Given the description of an element on the screen output the (x, y) to click on. 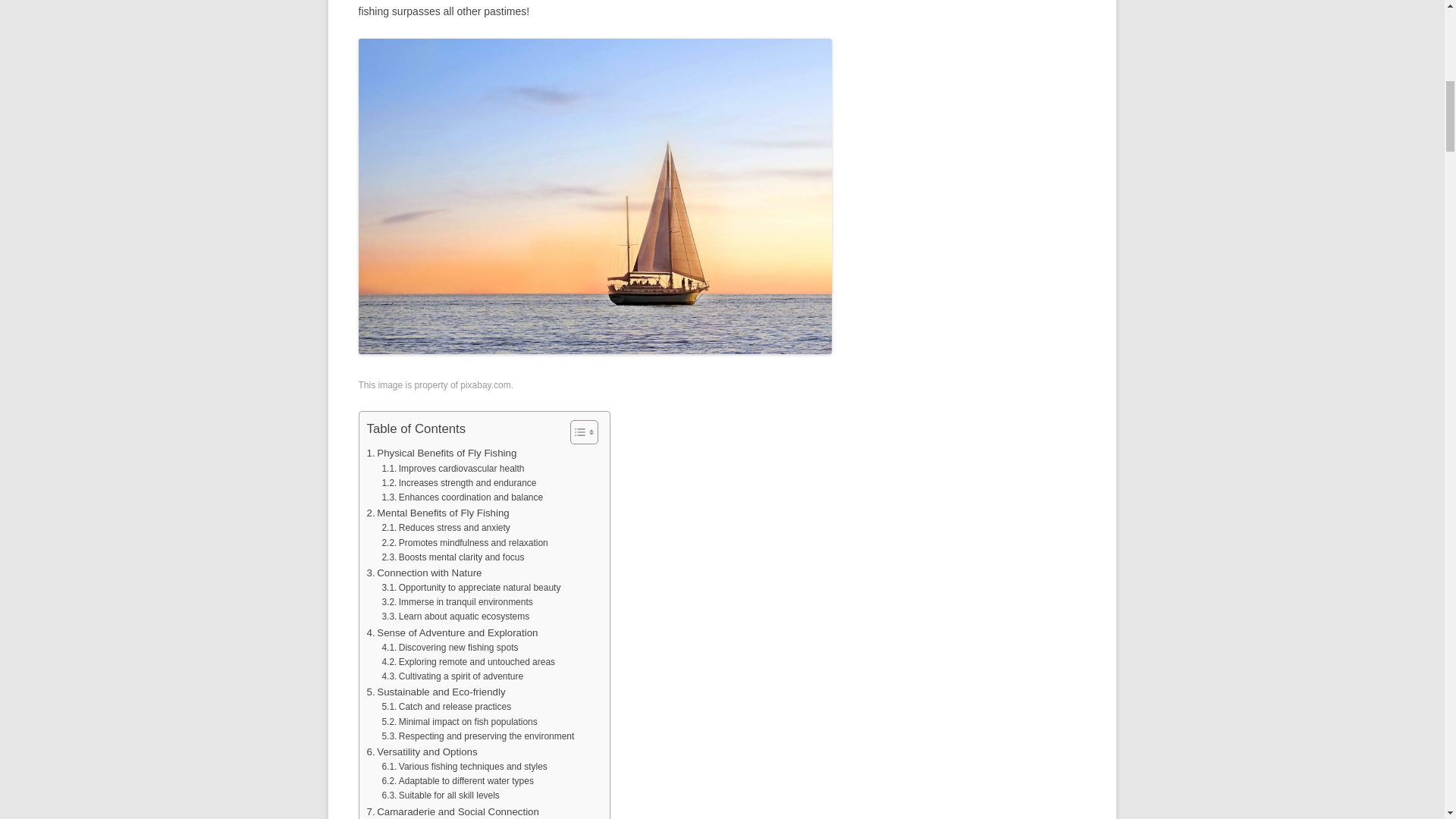
Catch and release practices (446, 707)
Sustainable and Eco-friendly (435, 691)
Suitable for all skill levels (440, 795)
Increases strength and endurance (458, 482)
Various fishing techniques and styles (464, 766)
Mental Benefits of Fly Fishing (437, 512)
Discovering new fishing spots (449, 647)
Learn about aquatic ecosystems (455, 616)
Increases strength and endurance (458, 482)
Minimal impact on fish populations (459, 721)
Enhances coordination and balance (462, 497)
Improves cardiovascular health (452, 468)
Opportunity to appreciate natural beauty (470, 587)
Discovering new fishing spots (449, 647)
Improves cardiovascular health (452, 468)
